Given the description of an element on the screen output the (x, y) to click on. 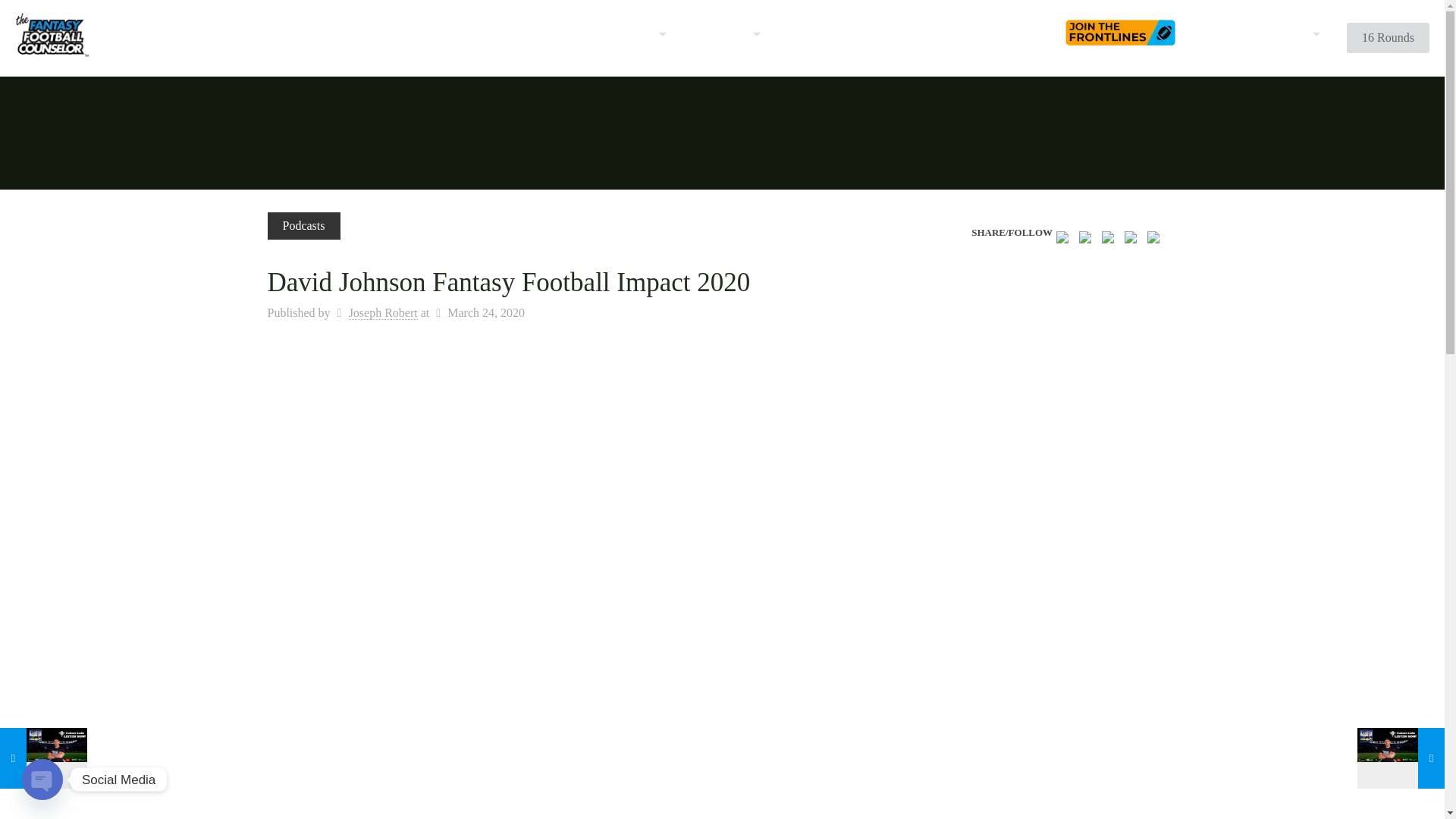
More (1293, 33)
Direct Coaching (494, 33)
Podcasts (302, 225)
Fantasy Football Rankings 2024 (326, 33)
16 Rounds (1387, 37)
Joseph Robert (383, 313)
Merch! (1225, 33)
Latest Articles (615, 33)
Programs (721, 33)
